Given the description of an element on the screen output the (x, y) to click on. 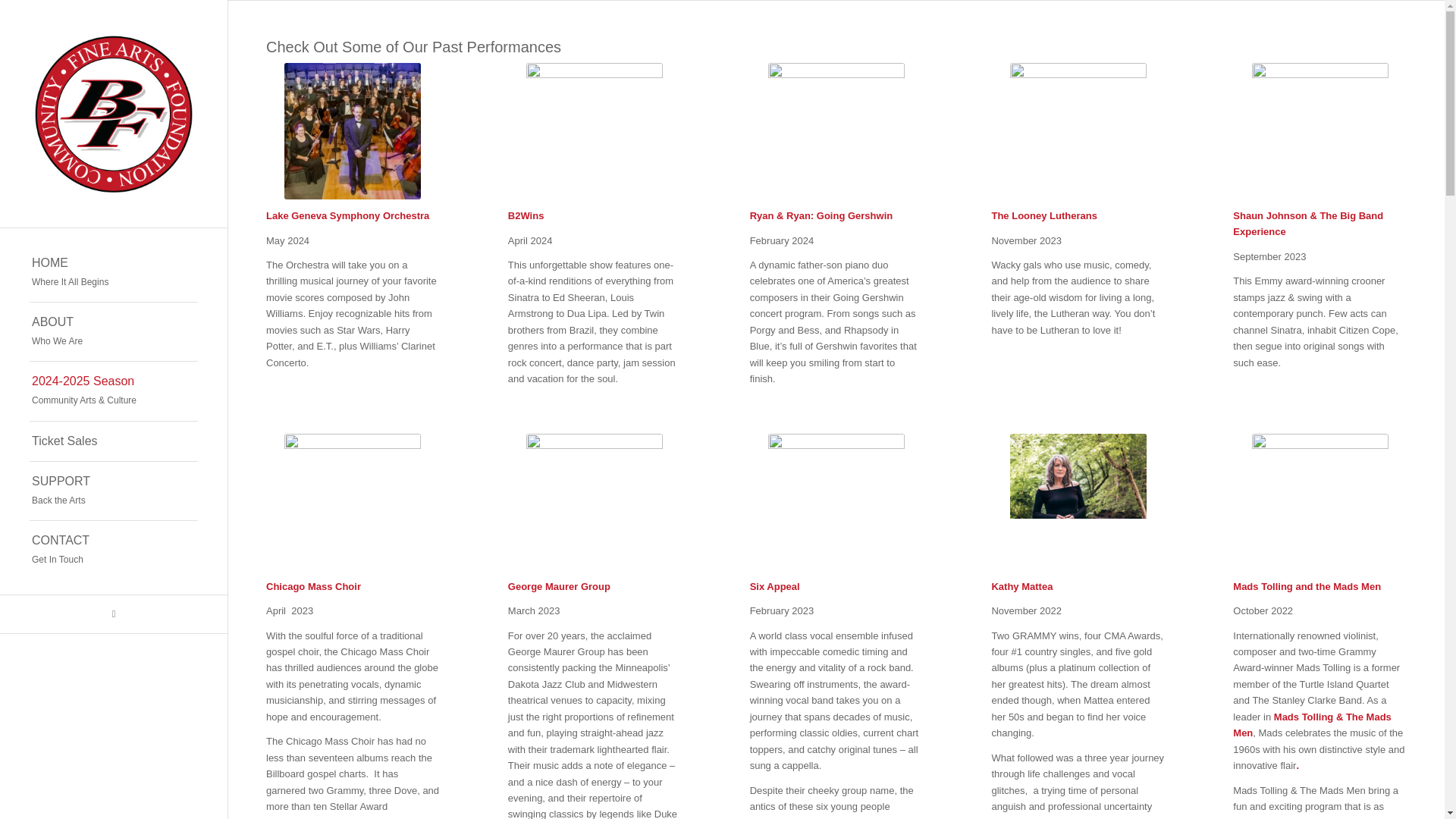
Mads-Men-Green-Gate-cool-by-John-Tinger web (1320, 502)
6A 2023 02 (113, 272)
GMG web (836, 502)
Facebook (593, 502)
B2wins (113, 331)
Ticket Sales (113, 614)
